Given the description of an element on the screen output the (x, y) to click on. 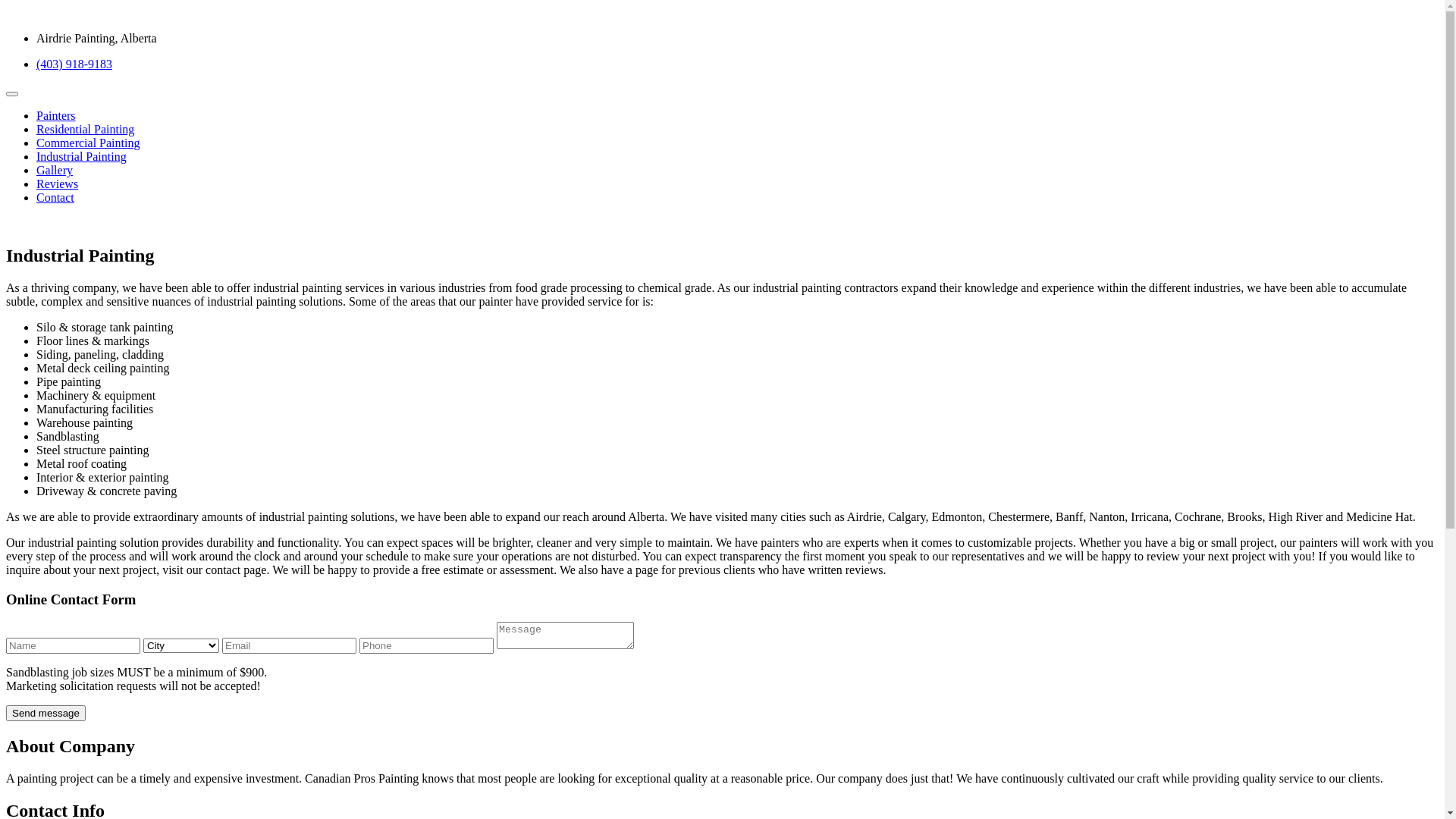
Painters Element type: text (55, 115)
Contact Element type: text (55, 197)
Reviews Element type: text (57, 183)
Industrial Painting Element type: text (81, 156)
Residential Painting Element type: text (85, 128)
Commercial Painting Element type: text (87, 142)
(403) 918-9183 Element type: text (74, 63)
Send message Element type: text (45, 713)
Gallery Element type: text (54, 169)
Send message Element type: hover (45, 713)
